Given the description of an element on the screen output the (x, y) to click on. 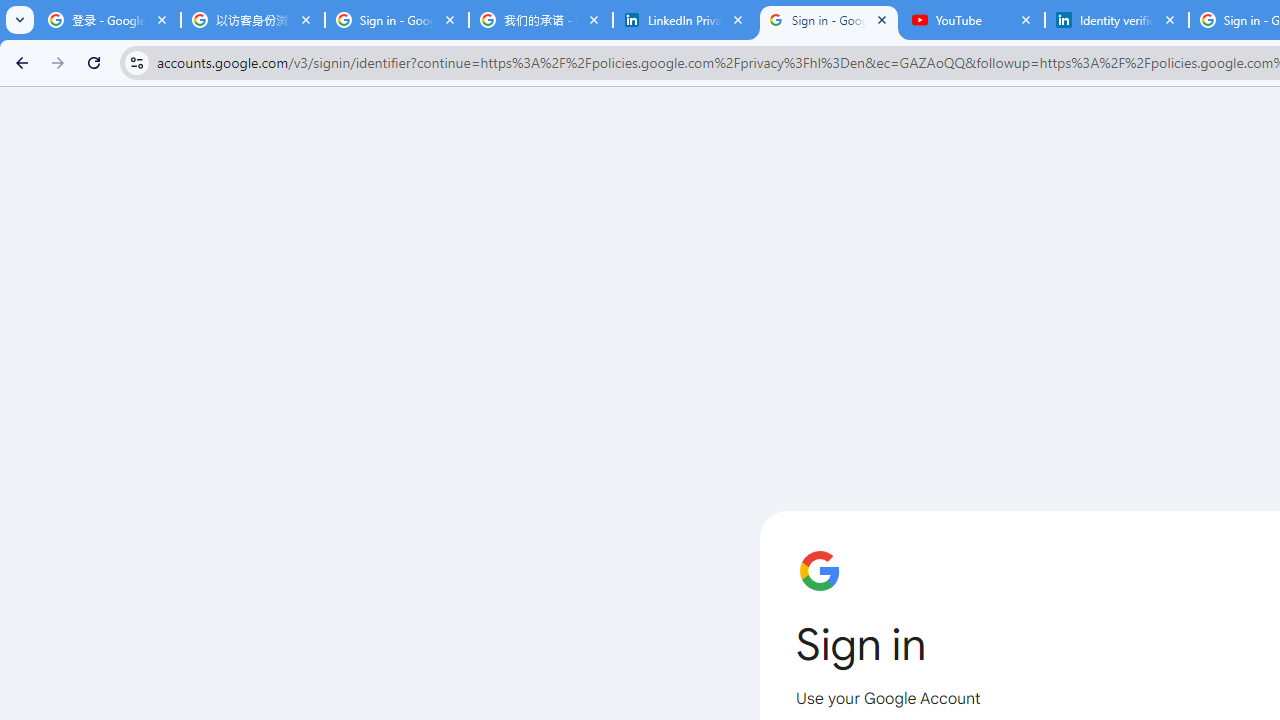
Sign in - Google Accounts (828, 20)
YouTube (972, 20)
Identity verification via Persona | LinkedIn Help (1116, 20)
LinkedIn Privacy Policy (684, 20)
Sign in - Google Accounts (396, 20)
